Given the description of an element on the screen output the (x, y) to click on. 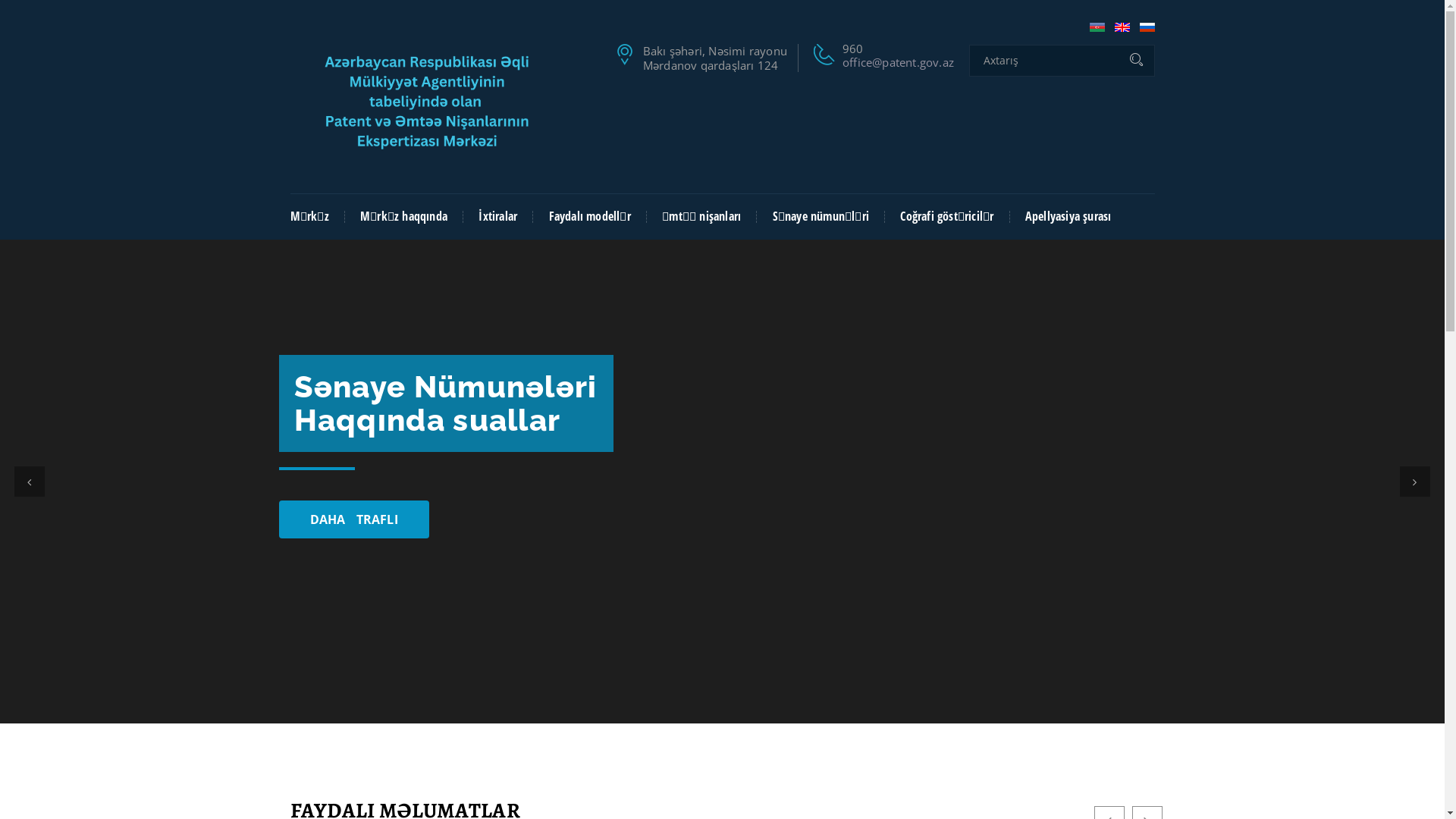
Next Element type: text (1414, 481)
Previous Element type: text (29, 481)
office@patent.gov.az Element type: text (897, 61)
